Given the description of an element on the screen output the (x, y) to click on. 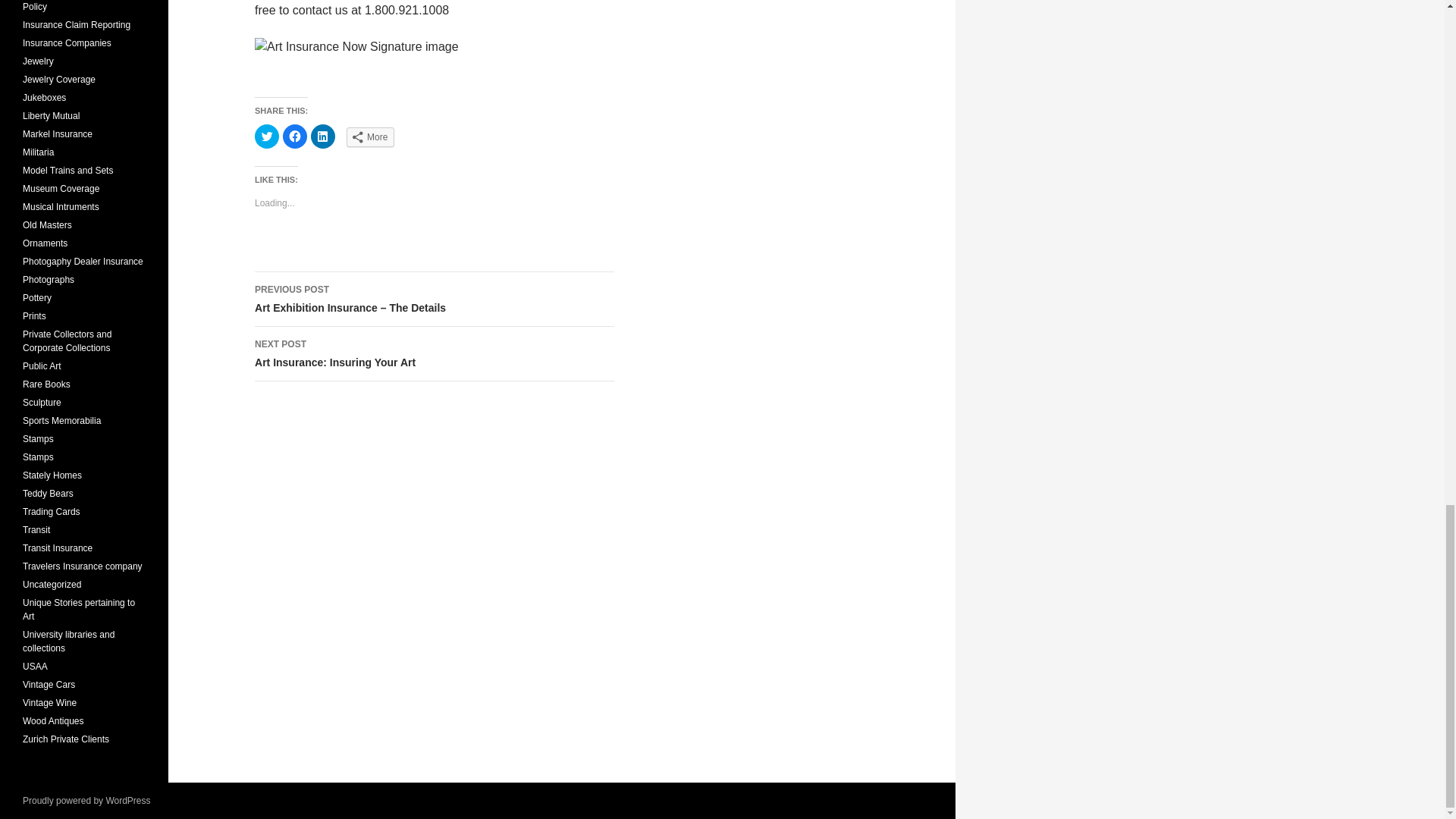
Signature (434, 353)
Click to share on Twitter (434, 57)
Click to share on LinkedIn (266, 136)
More (322, 136)
Click to share on Facebook (370, 137)
